Given the description of an element on the screen output the (x, y) to click on. 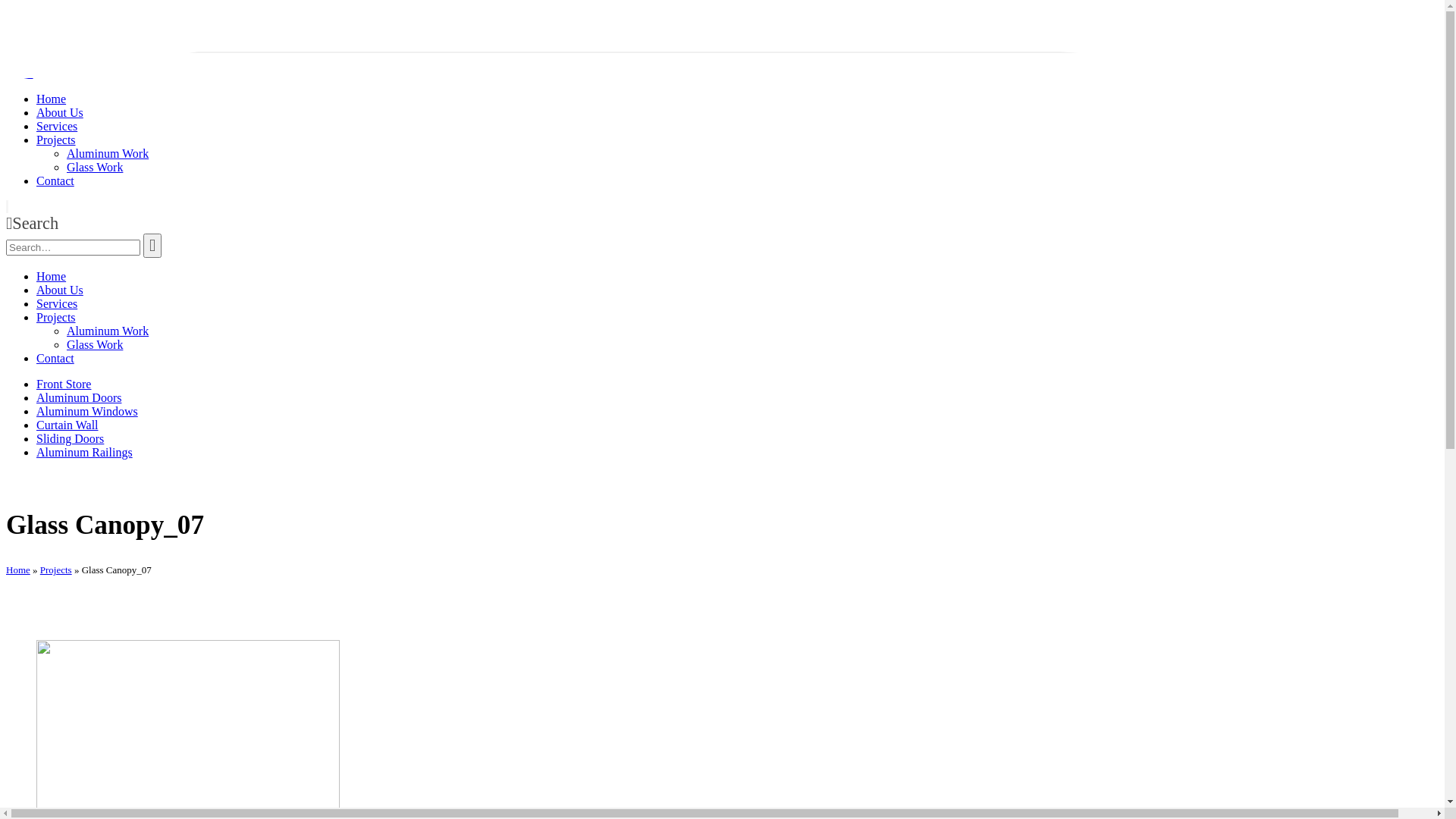
Projects Element type: text (55, 316)
Home Element type: text (18, 569)
Projects Element type: text (55, 139)
Get A Quote Element type: text (37, 45)
Art Aluminum Glass - Site Element type: hover (52, 72)
Front Store Element type: text (63, 383)
Contact Element type: text (55, 180)
Home Element type: text (50, 98)
Aluminum Work Element type: text (107, 330)
Home Element type: text (50, 275)
Aluminum Railings Element type: text (84, 451)
+1 905 884 3002 Element type: text (114, 18)
Services Element type: text (56, 125)
About Us Element type: text (59, 112)
Aluminum Doors Element type: text (78, 397)
Aluminum Windows Element type: text (87, 410)
About Us Element type: text (59, 289)
Search Element type: hover (152, 245)
Glass Work Element type: text (94, 166)
Sliding Doors Element type: text (69, 438)
Contact Element type: text (55, 357)
Aluminum Work Element type: text (107, 153)
Curtain Wall Element type: text (67, 424)
Glass Work Element type: text (94, 344)
Projects Element type: text (56, 569)
Search Element type: text (32, 222)
Services Element type: text (56, 303)
